Given the description of an element on the screen output the (x, y) to click on. 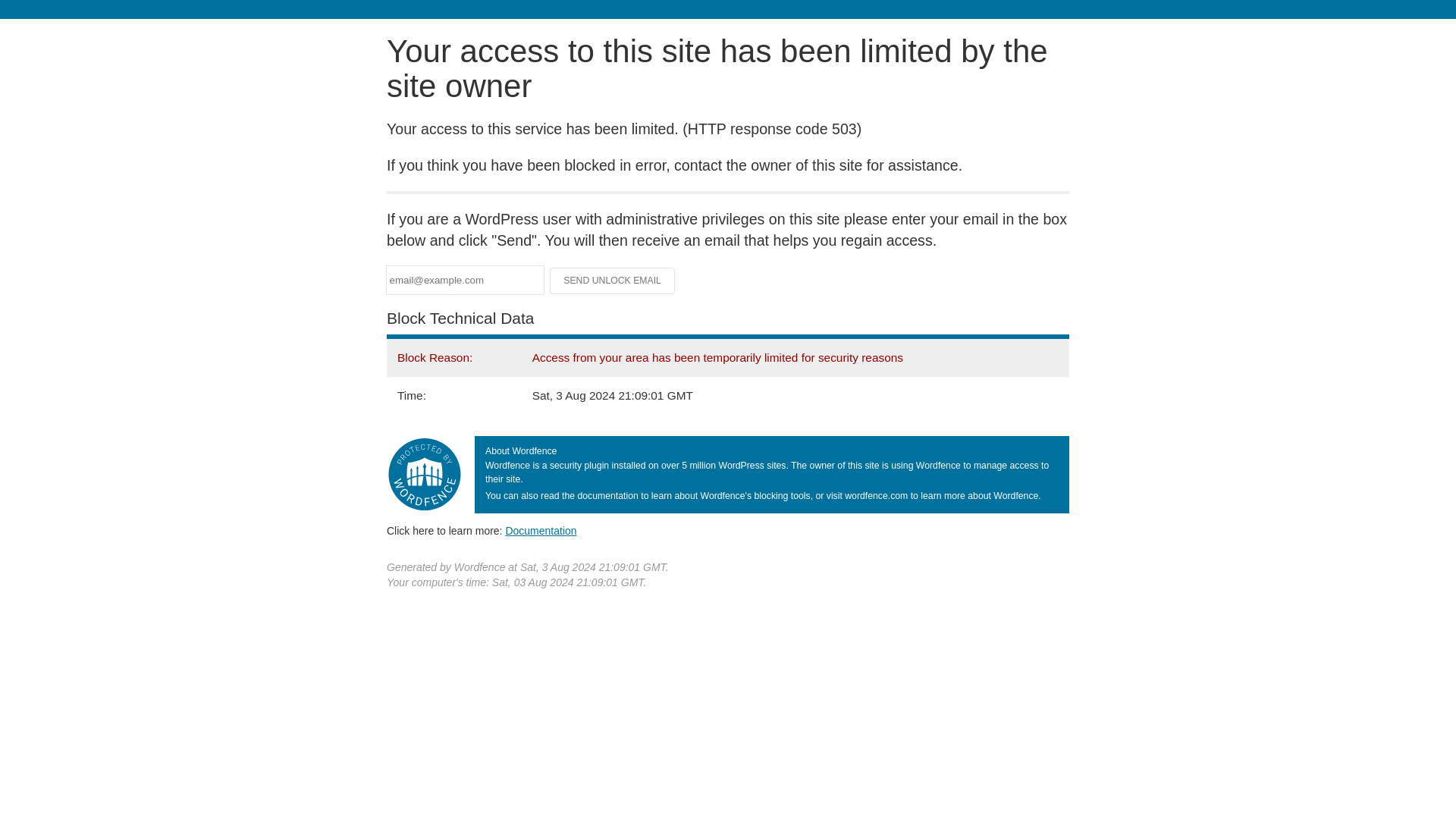
Send Unlock Email (612, 280)
Send Unlock Email (612, 280)
